Given the description of an element on the screen output the (x, y) to click on. 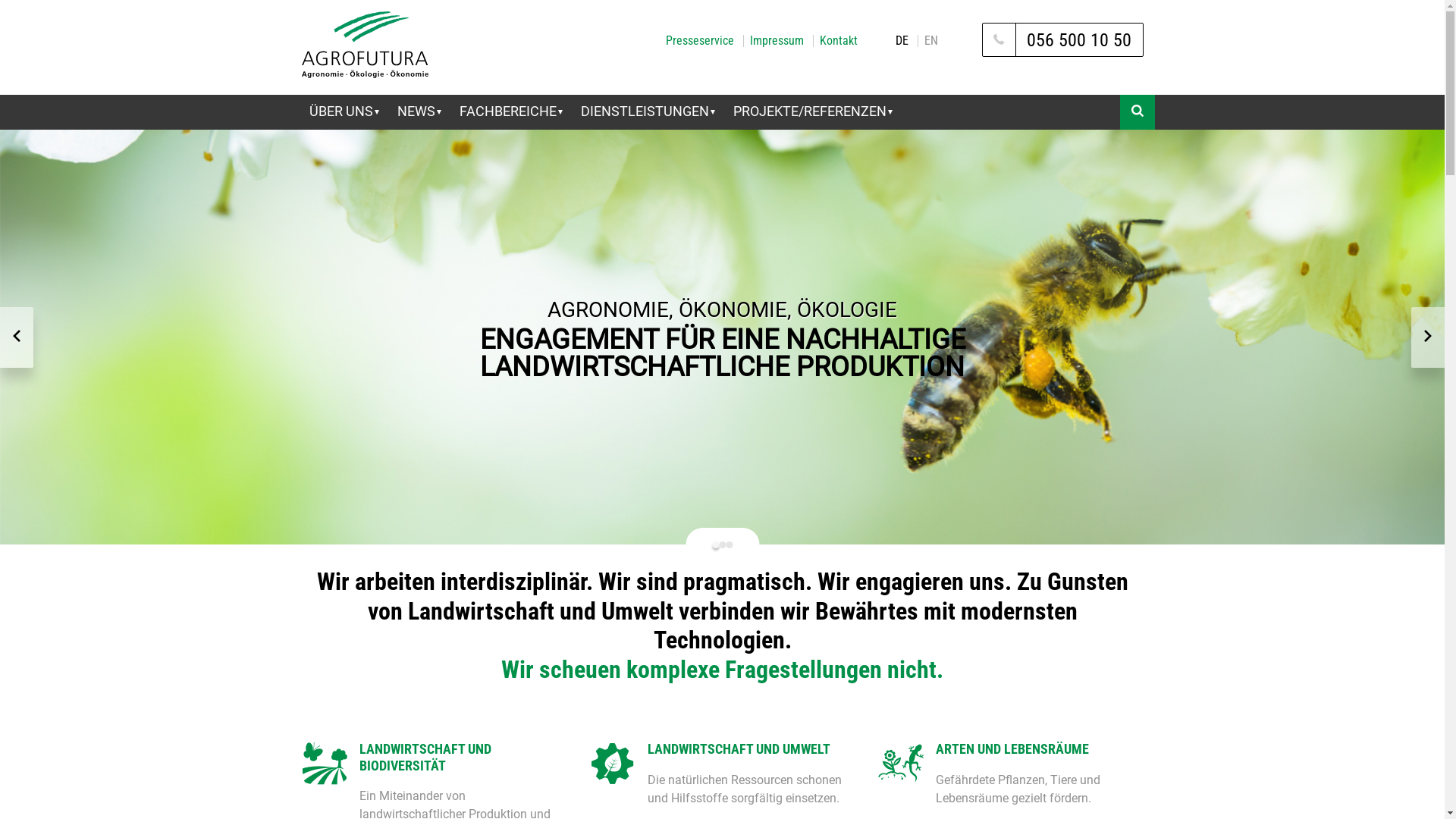
DIENSTLEISTUNGEN Element type: text (647, 111)
FACHBEREICHE Element type: text (510, 111)
LANDWIRTSCHAFT UND UMWELT Element type: text (751, 748)
PROJEKTE/REFERENZEN Element type: text (811, 111)
Presseservice Element type: text (699, 40)
Kontakt Element type: text (838, 40)
Suchen Element type: text (1177, 139)
NEWS Element type: text (418, 111)
056 500 10 50 Element type: text (1062, 39)
DE Element type: text (901, 40)
Impressum Element type: text (776, 40)
